Given the description of an element on the screen output the (x, y) to click on. 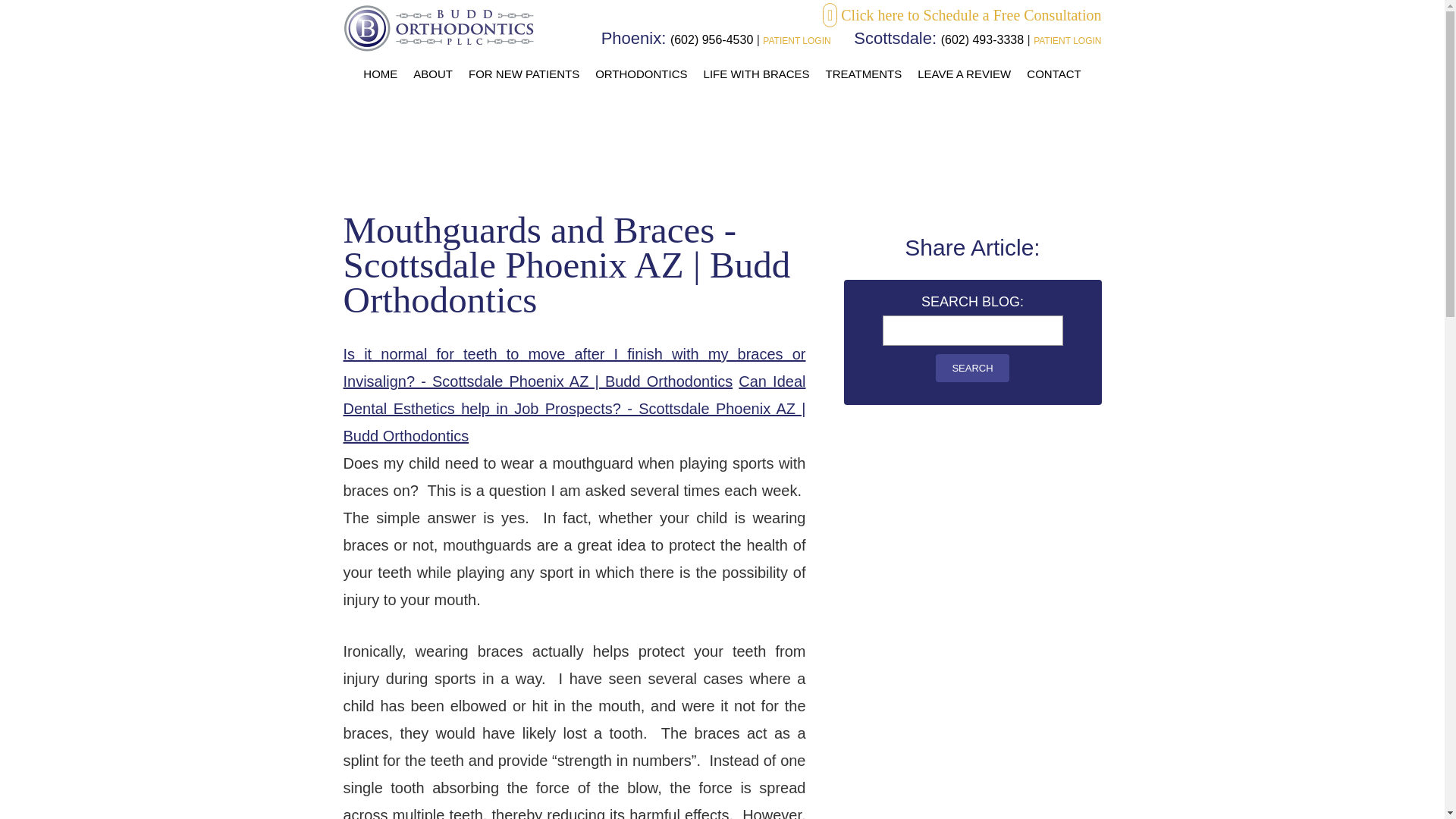
ABOUT (432, 74)
LIFE WITH BRACES (756, 74)
HOME (379, 74)
FOR NEW PATIENTS (524, 74)
TREATMENTS (863, 74)
ORTHODONTICS (641, 74)
